Given the description of an element on the screen output the (x, y) to click on. 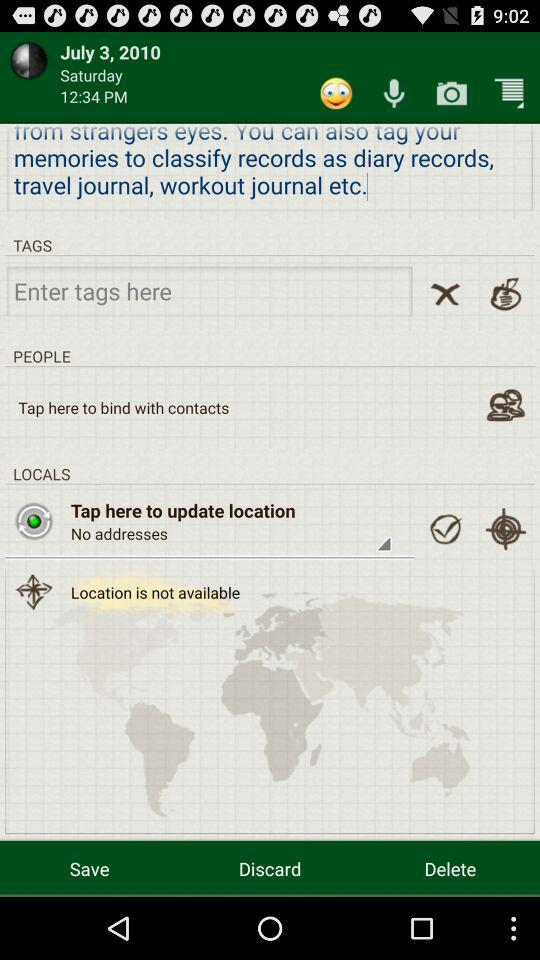
choose the icon below the locals icon (505, 529)
